Given the description of an element on the screen output the (x, y) to click on. 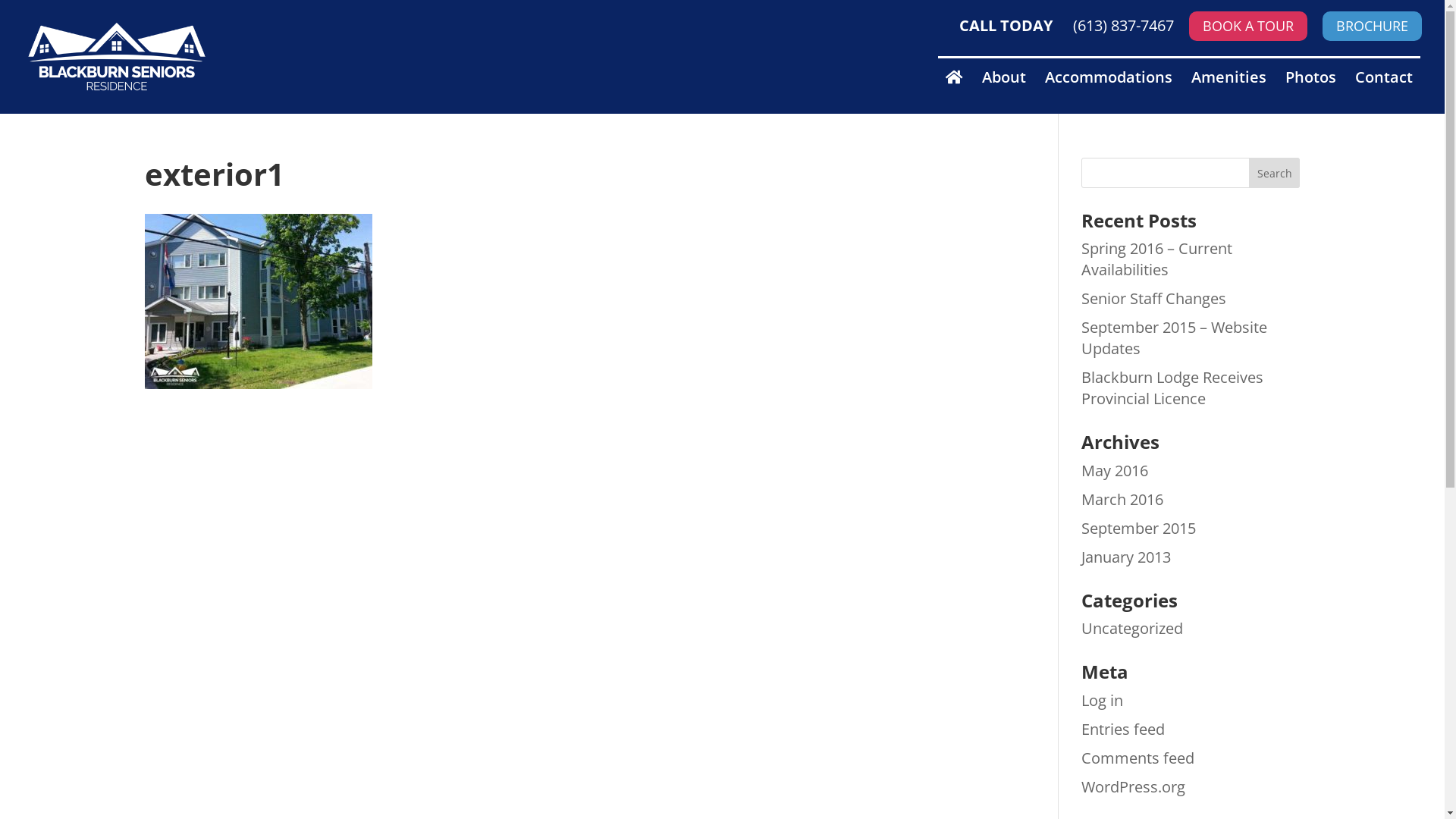
Contact Element type: text (1383, 91)
Log in Element type: text (1102, 700)
Amenities Element type: text (1228, 91)
September 2015 Element type: text (1138, 527)
March 2016 Element type: text (1122, 499)
Uncategorized Element type: text (1132, 628)
BROCHURE Element type: text (1371, 25)
Comments feed Element type: text (1137, 757)
Senior Staff Changes Element type: text (1153, 298)
Search Element type: text (1274, 172)
Accommodations Element type: text (1108, 91)
Entries feed Element type: text (1122, 728)
WordPress.org Element type: text (1133, 786)
Photos Element type: text (1310, 91)
BOOK A TOUR Element type: text (1248, 25)
Blackburn Lodge Receives Provincial Licence Element type: text (1172, 387)
About Element type: text (1004, 91)
May 2016 Element type: text (1114, 470)
January 2013 Element type: text (1125, 556)
